Given the description of an element on the screen output the (x, y) to click on. 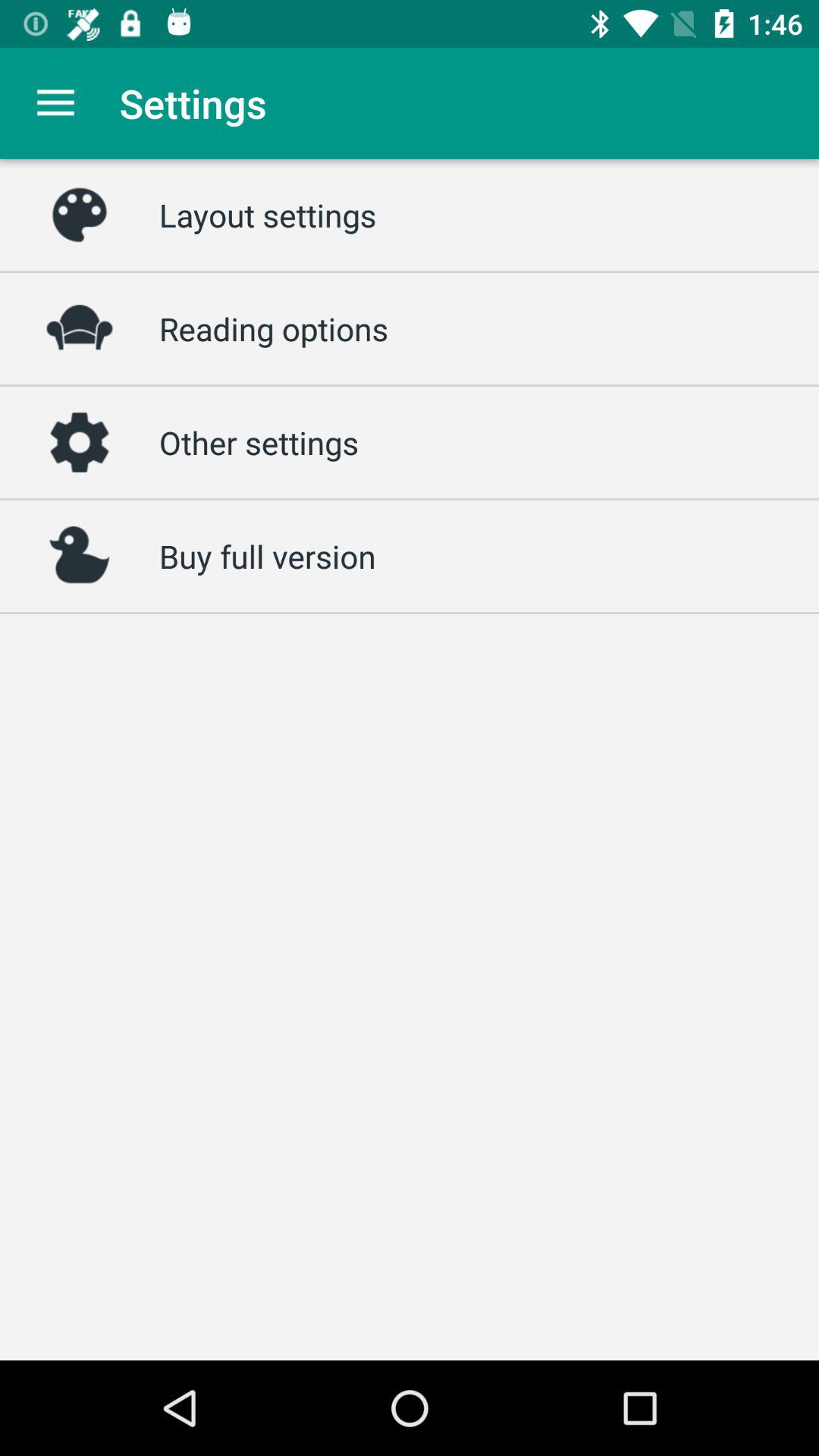
open item above other settings (273, 328)
